Given the description of an element on the screen output the (x, y) to click on. 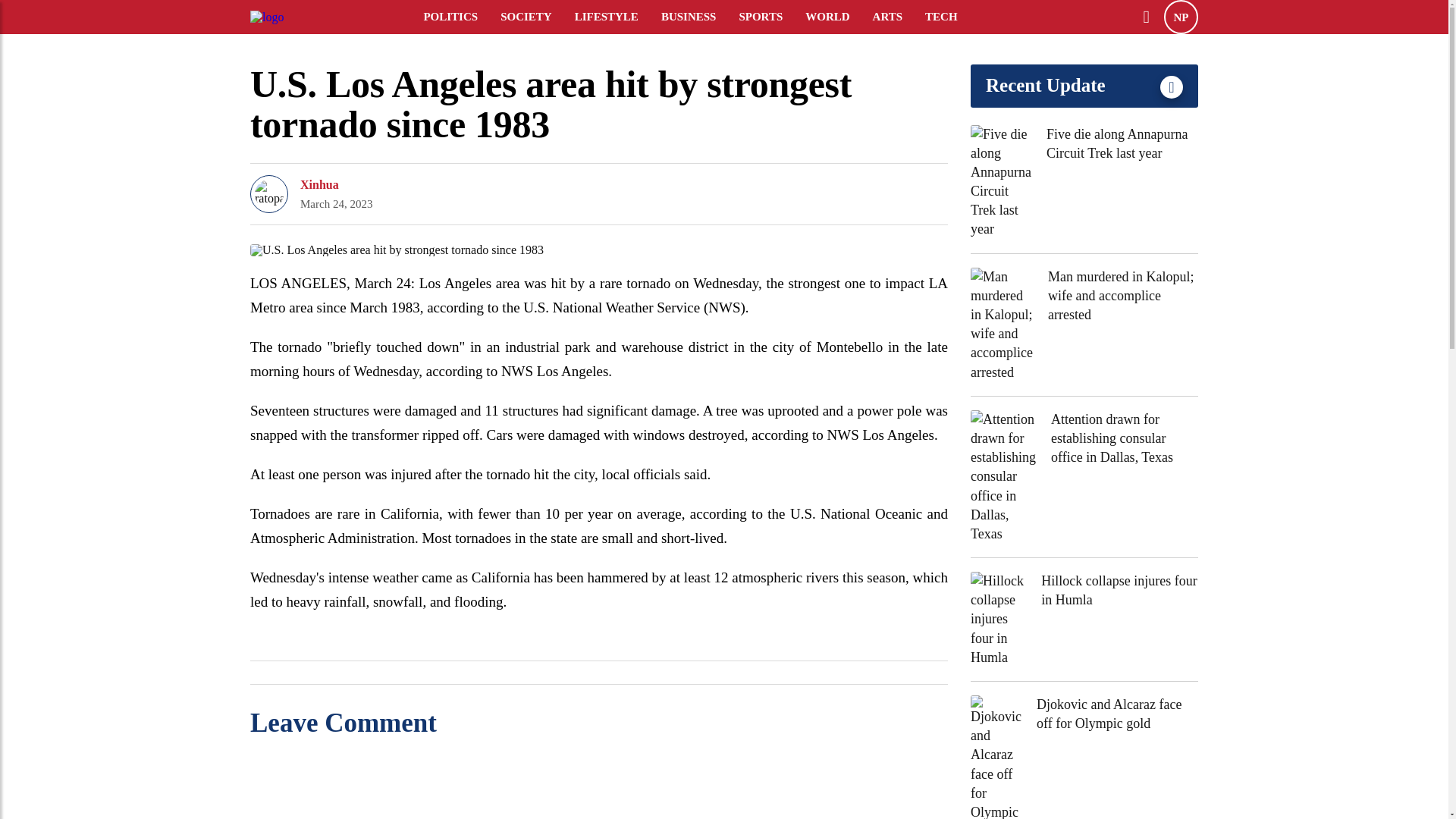
WORLD (837, 16)
POLITICS (460, 16)
BUSINESS (698, 16)
TECH (950, 16)
ARTS (897, 16)
SOCIETY (536, 16)
Five die along Annapurna Circuit Trek last year (1122, 143)
Hillock collapse injures four in Humla (1119, 590)
Djokovic and Alcaraz face off for Olympic gold (1117, 714)
SPORTS (770, 16)
NP (1180, 17)
Man murdered in Kalopul; wife and accomplice arrested (1123, 296)
LIFESTYLE (616, 16)
